Given the description of an element on the screen output the (x, y) to click on. 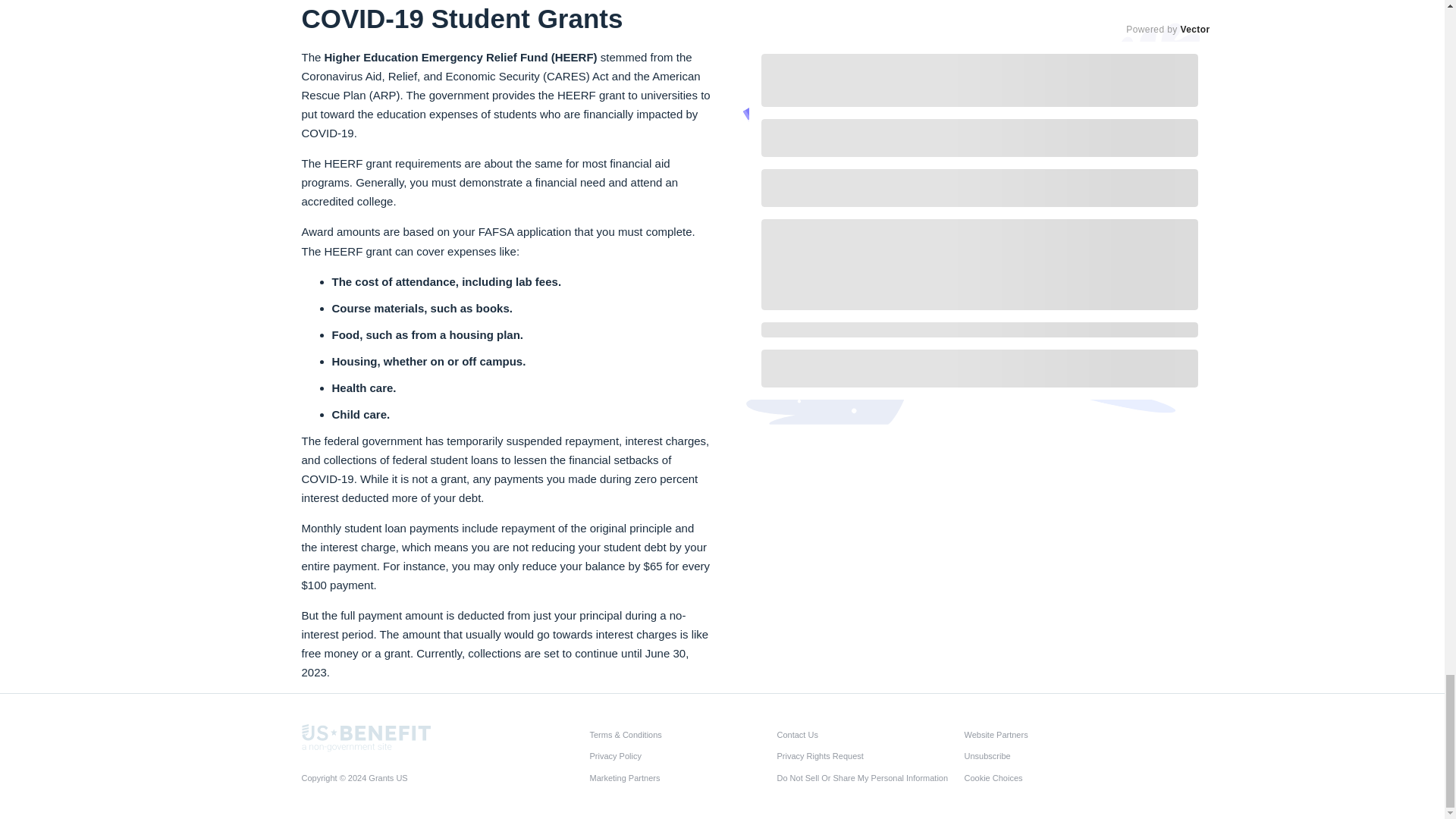
Unsubscribe (1052, 755)
Marketing Partners (678, 776)
Do Not Sell Or Share My Personal Information (865, 776)
Contact Us (865, 734)
Do Not Sell Or Share My Personal Information (865, 776)
Website Partners (1052, 734)
Website Partners (1052, 734)
Unsubscribe (1052, 755)
Marketing Partners (678, 776)
Privacy Policy (678, 755)
